Given the description of an element on the screen output the (x, y) to click on. 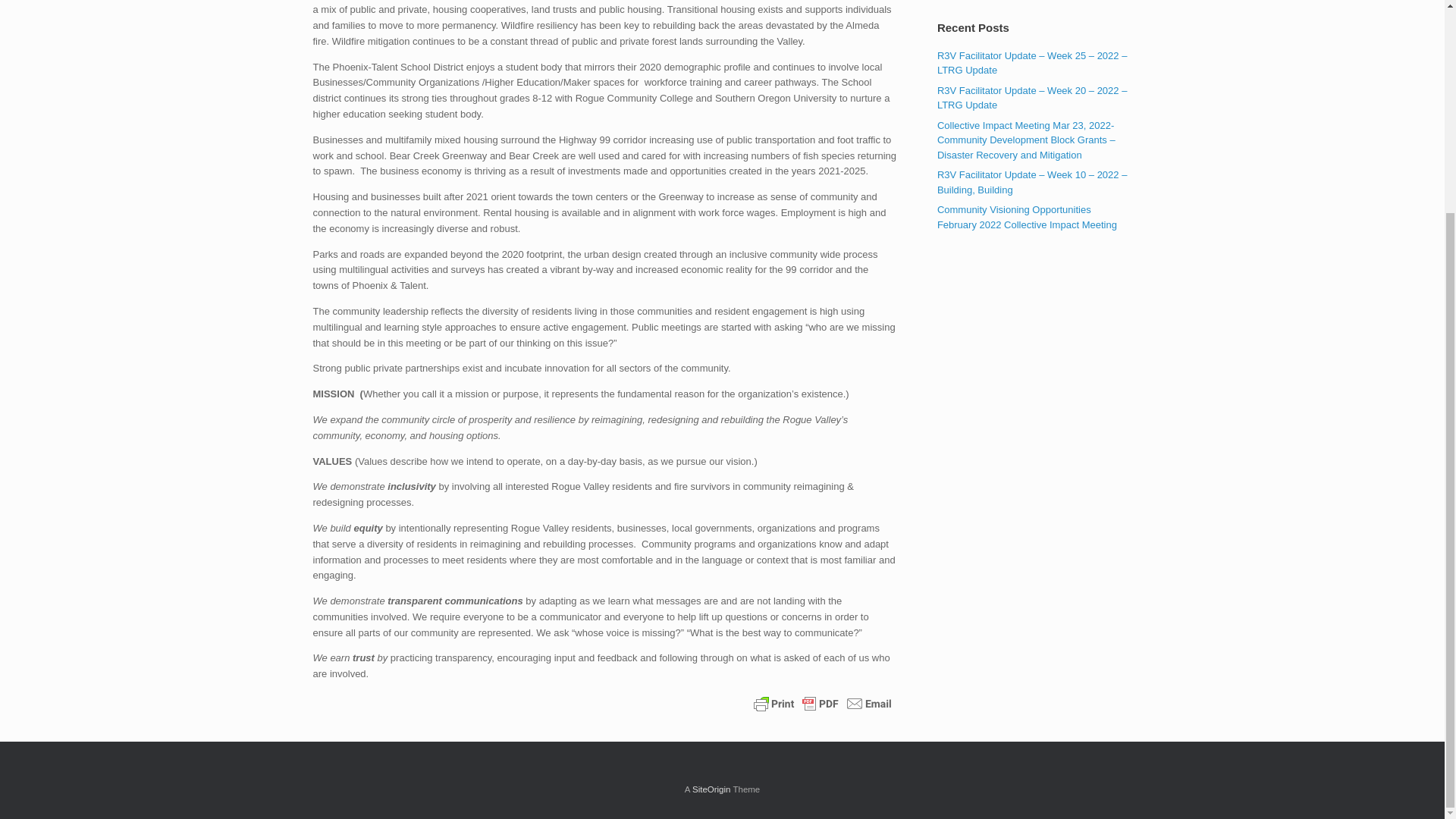
SiteOrigin (711, 788)
